Given the description of an element on the screen output the (x, y) to click on. 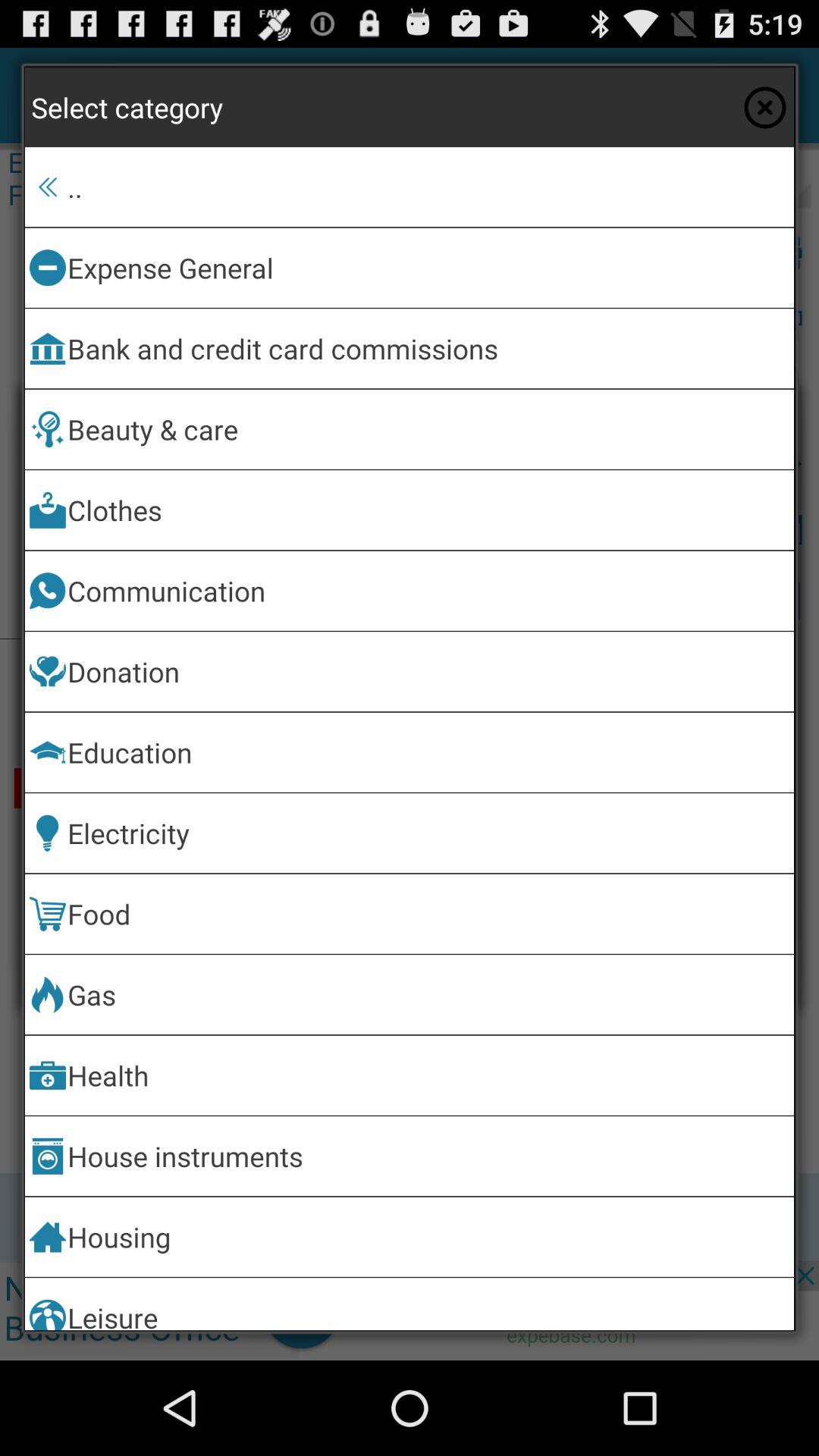
tap leisure (427, 1303)
